Given the description of an element on the screen output the (x, y) to click on. 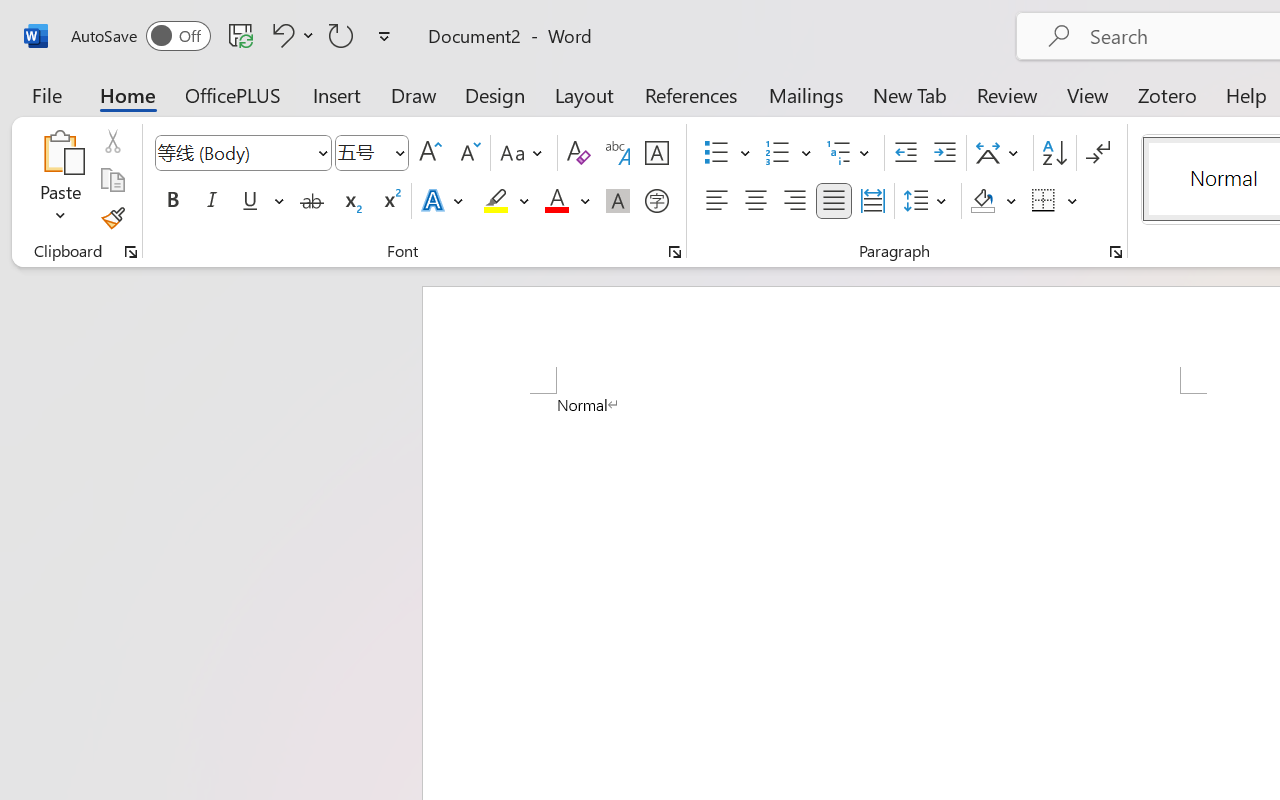
Font (242, 153)
Borders (1055, 201)
Line and Paragraph Spacing (927, 201)
Repeat Doc Close (341, 35)
Change Case (524, 153)
Draw (413, 94)
Show/Hide Editing Marks (1098, 153)
References (690, 94)
Font Color Red (556, 201)
Copy (112, 179)
Grow Font (430, 153)
OfficePLUS (233, 94)
Paste (60, 179)
Text Effects and Typography (444, 201)
Subscript (350, 201)
